Given the description of an element on the screen output the (x, y) to click on. 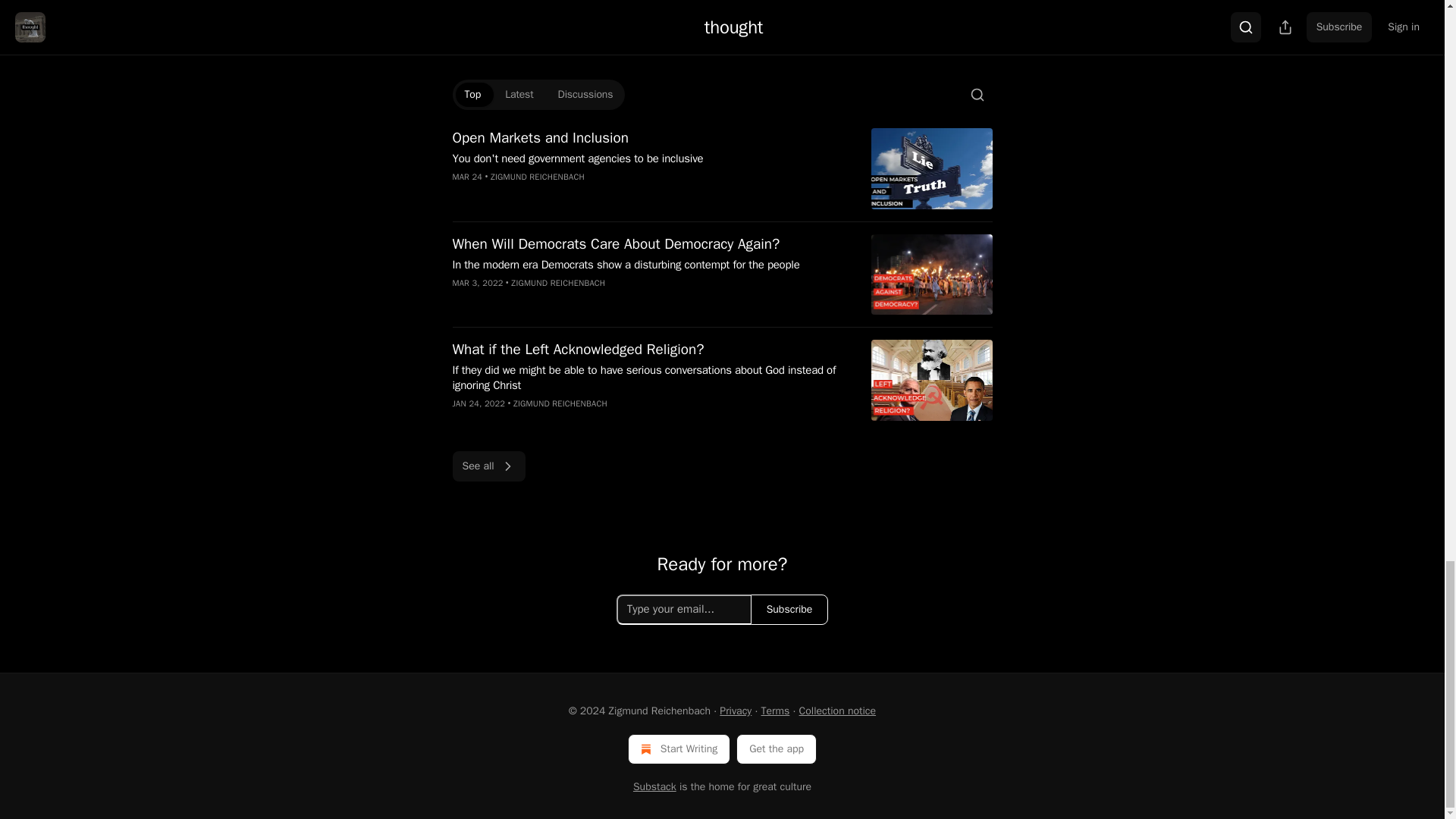
Top (471, 94)
Discussions (585, 94)
Latest (518, 94)
